Given the description of an element on the screen output the (x, y) to click on. 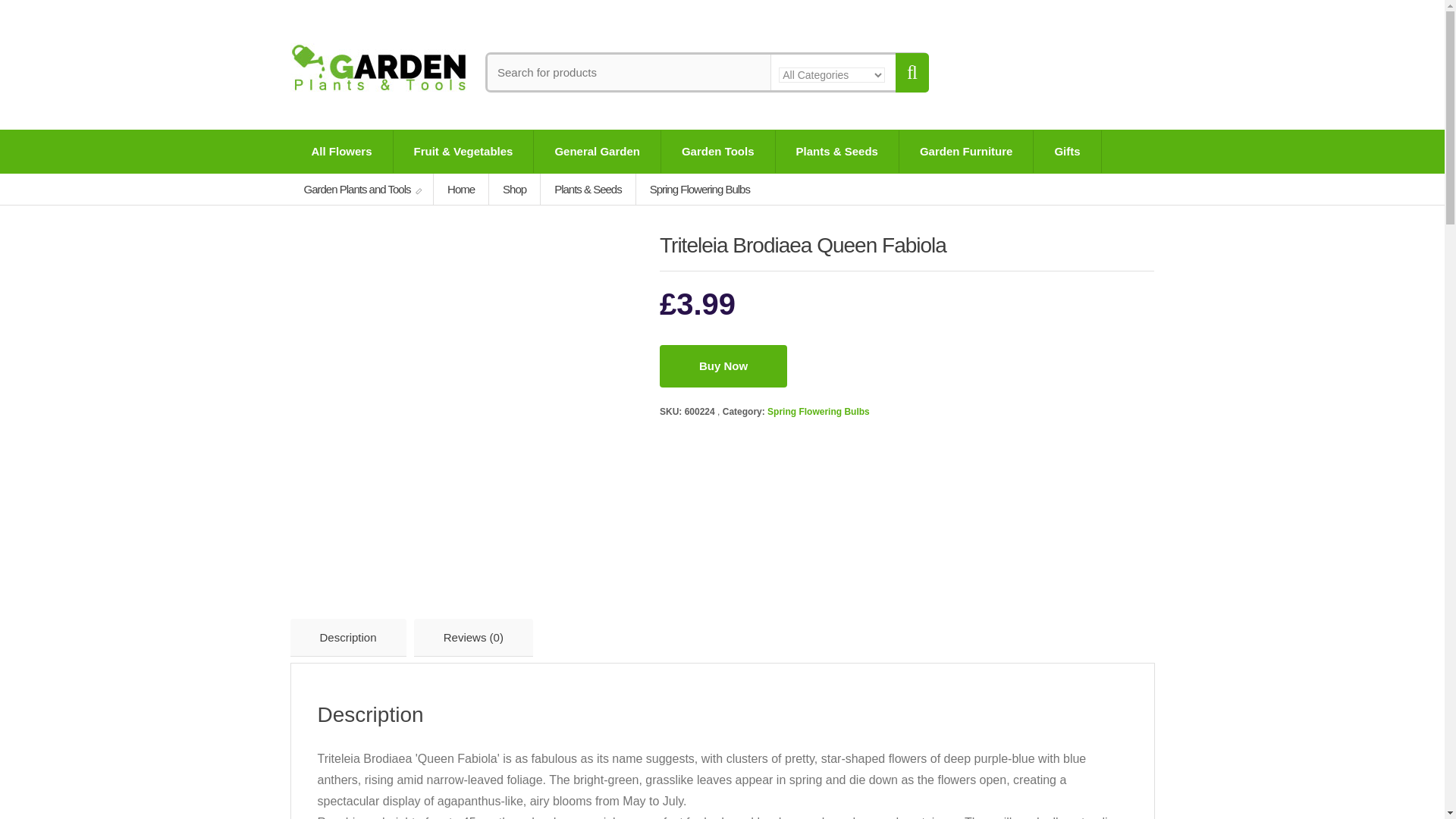
Garden Furniture (966, 151)
All Flowers (342, 151)
Gifts (1066, 151)
Garden Plants and Tools (361, 188)
All Flowers (342, 151)
Garden Tools (717, 151)
General Garden (597, 151)
Gifts (1066, 151)
Garden Tools (717, 151)
Garden Furniture (966, 151)
